Given the description of an element on the screen output the (x, y) to click on. 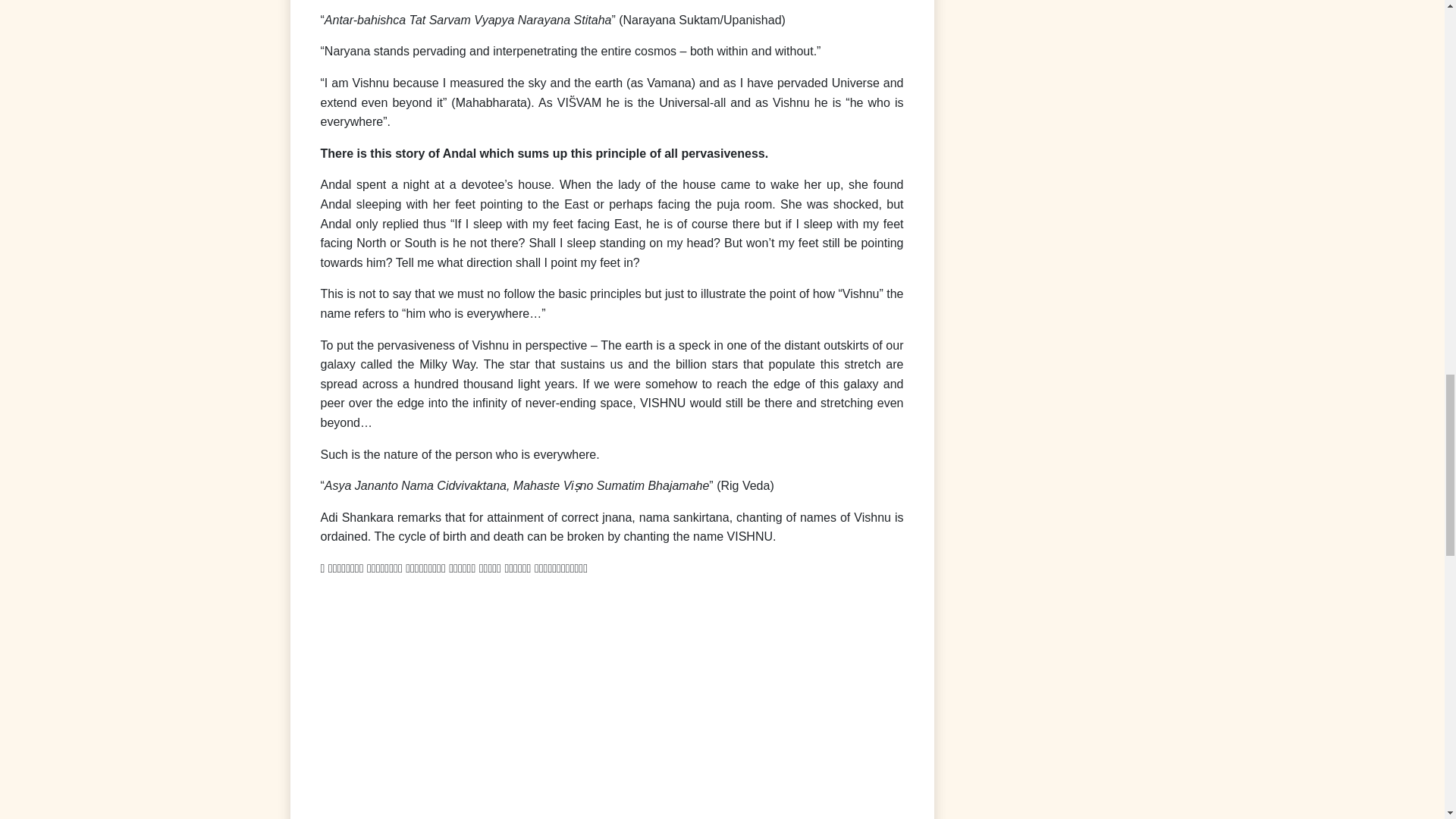
Sixth Swaminar (611, 704)
